Given the description of an element on the screen output the (x, y) to click on. 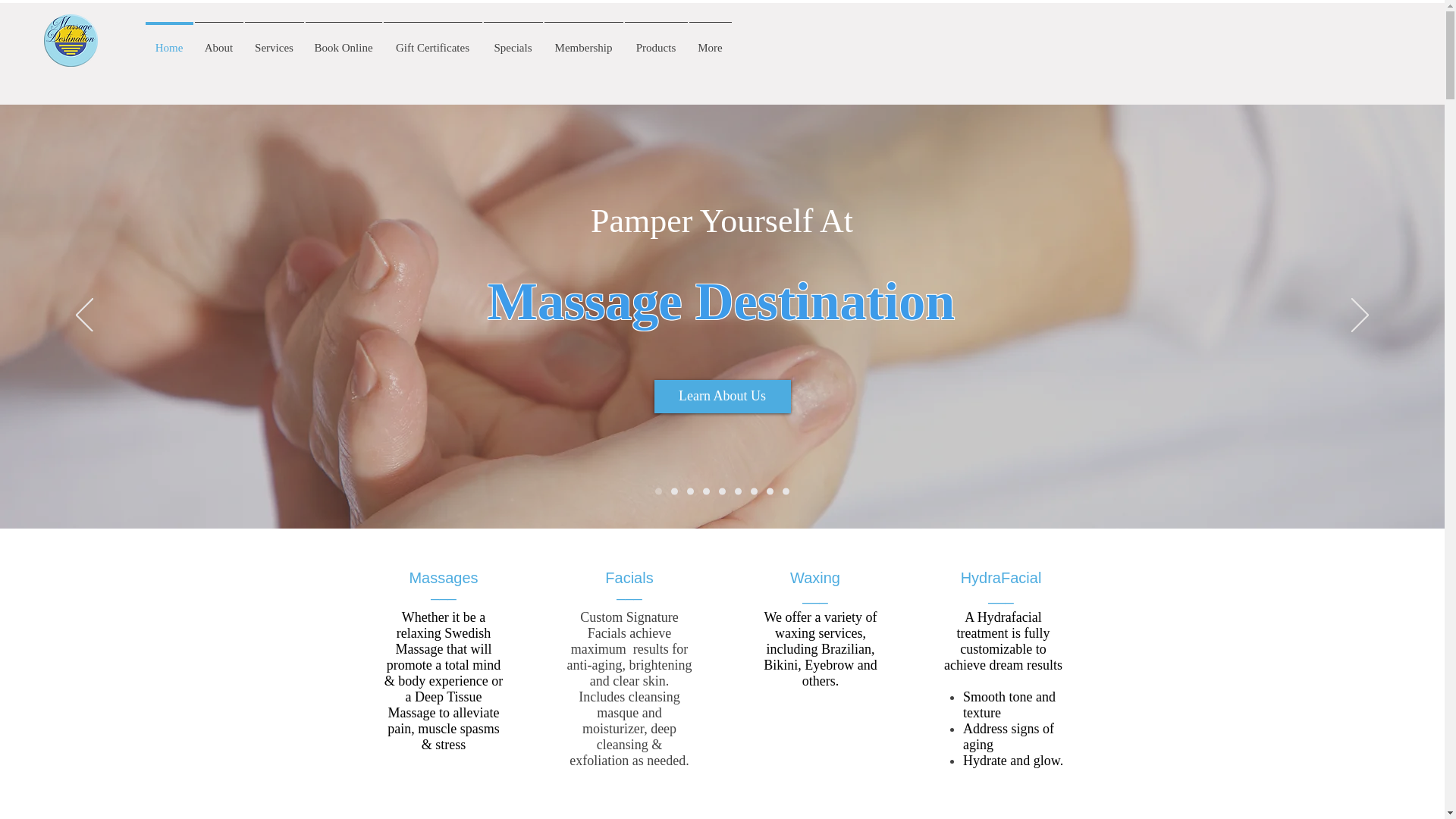
Book Online (343, 40)
About (218, 40)
Specials (512, 40)
Learn About Us (721, 396)
Products (655, 40)
Services (274, 40)
Membership (583, 40)
Home (168, 40)
Gift Certificates (431, 40)
